Given the description of an element on the screen output the (x, y) to click on. 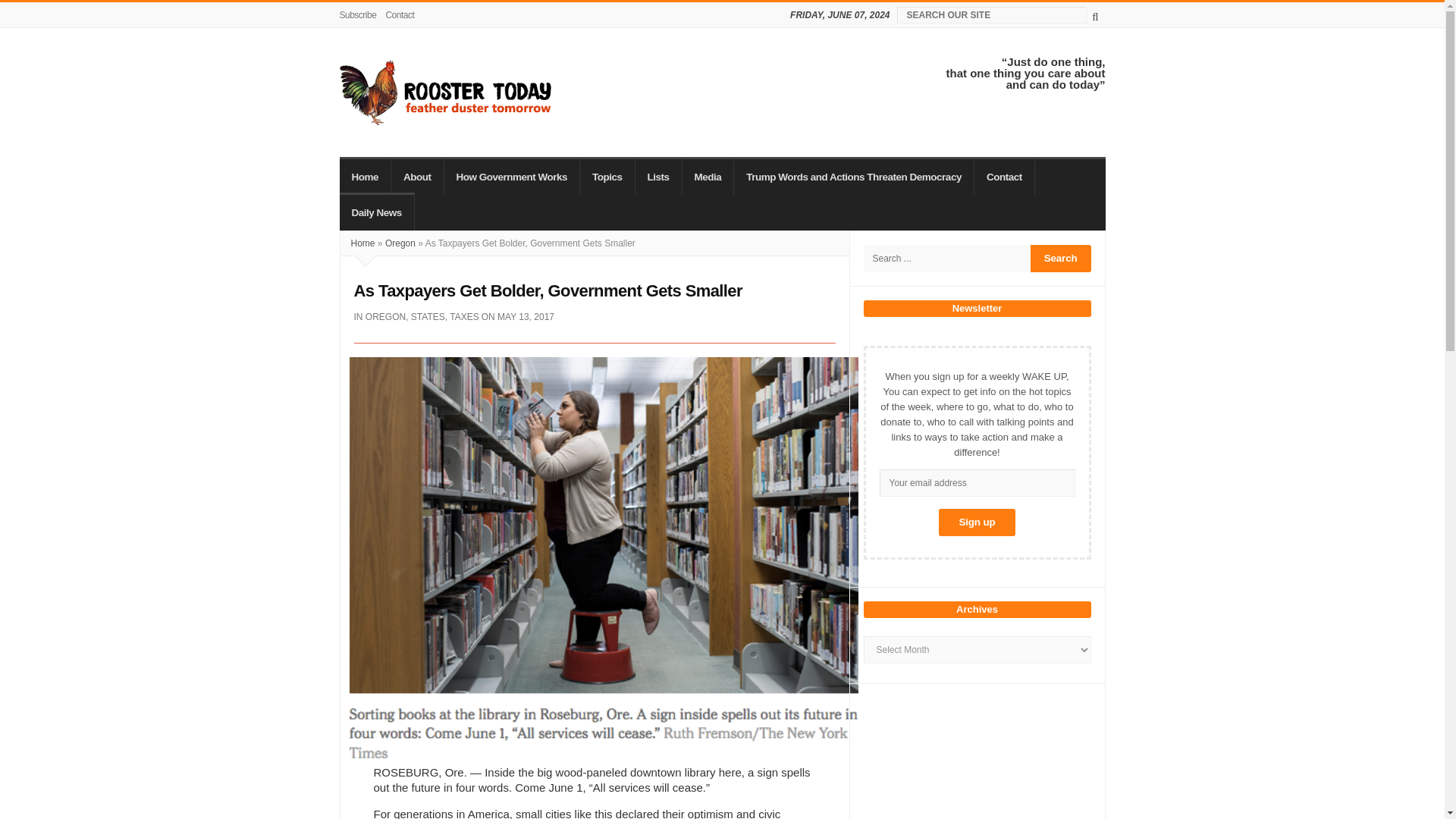
Search (1060, 257)
Search for: (946, 257)
Contact (399, 14)
Subscribe (360, 14)
Topics (606, 175)
How Government Works (512, 175)
Sign up (976, 522)
Home (365, 175)
About (417, 175)
Rooster Today (445, 92)
